Given the description of an element on the screen output the (x, y) to click on. 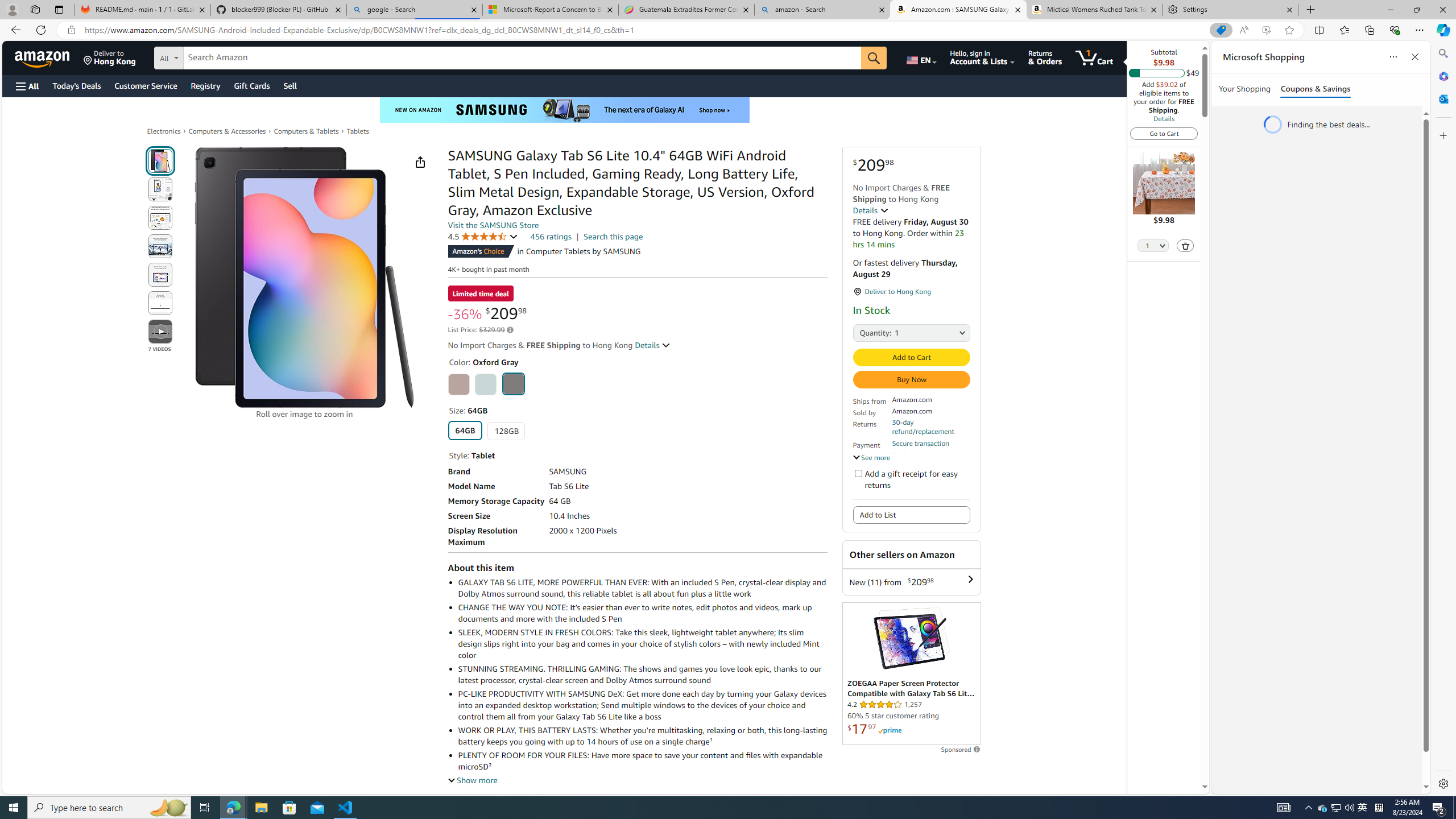
Mint (486, 384)
Chiffon Pink (458, 384)
Add to List (911, 514)
Buy Now (911, 379)
Quantity Selector (1153, 246)
Show more (471, 780)
Oxford Gray (513, 383)
Electronics (163, 131)
Amazon (43, 57)
